Given the description of an element on the screen output the (x, y) to click on. 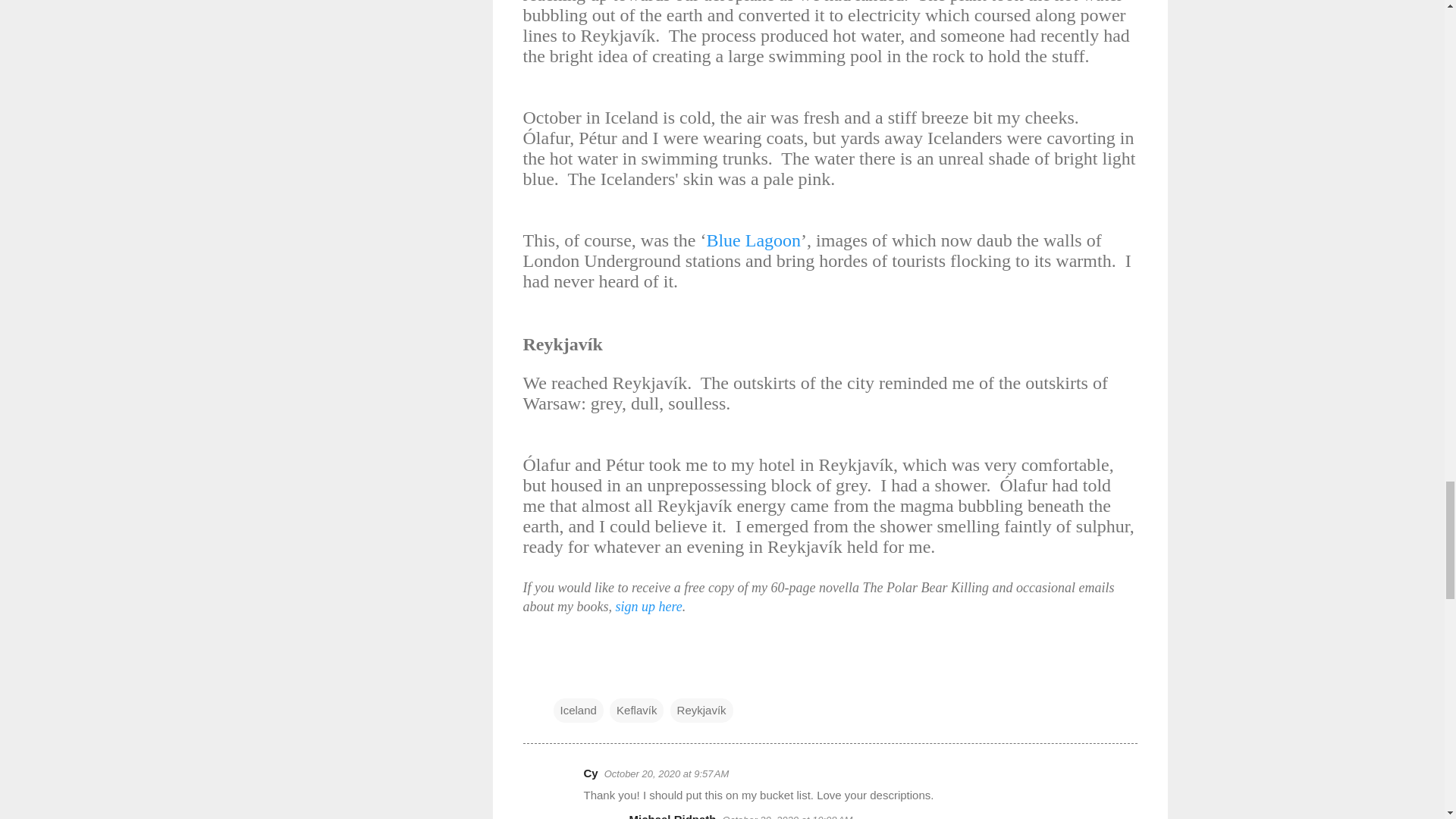
Iceland (578, 709)
Cy (590, 772)
Email Post (562, 679)
sign up here (647, 606)
Blue Lagoon (753, 240)
Michael Ridpath (672, 816)
